Given the description of an element on the screen output the (x, y) to click on. 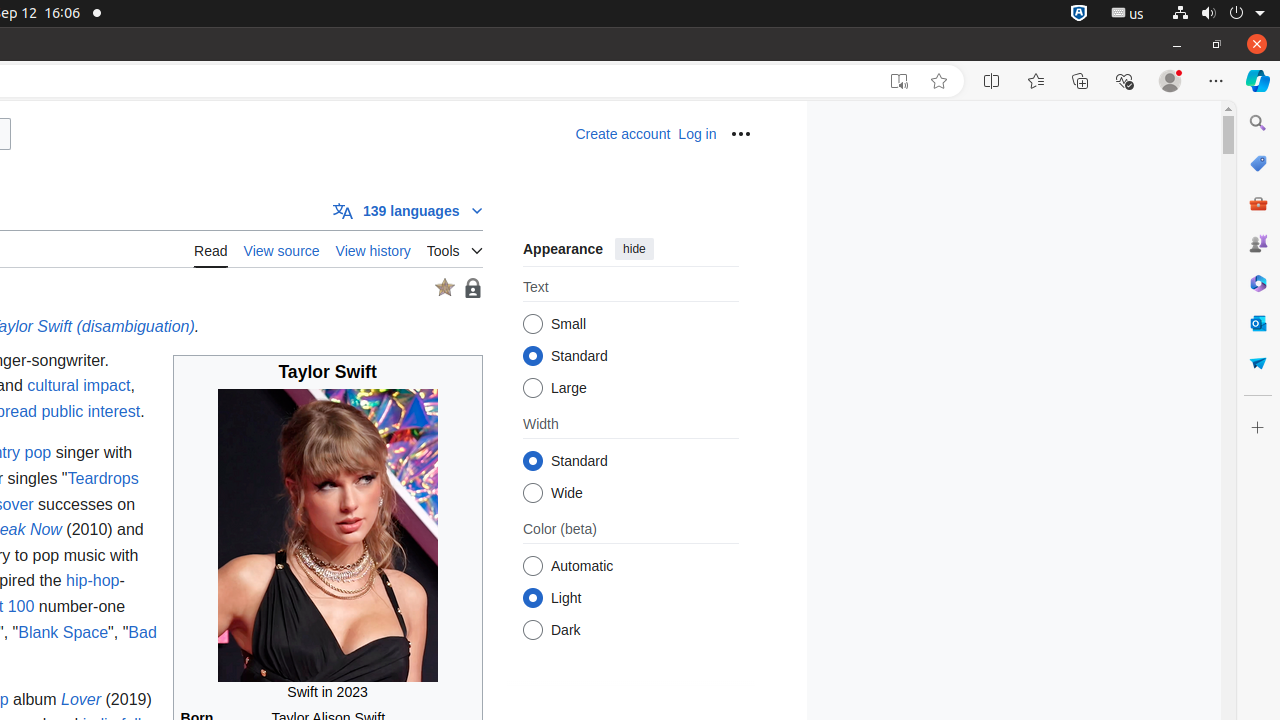
Featured article Element type: link (444, 288)
:1.72/StatusNotifierItem Element type: menu (1079, 13)
Add this page to favorites (Ctrl+D) Element type: push-button (939, 81)
Settings and more (Alt+F) Element type: push-button (1216, 81)
Lover Element type: link (81, 699)
